Given the description of an element on the screen output the (x, y) to click on. 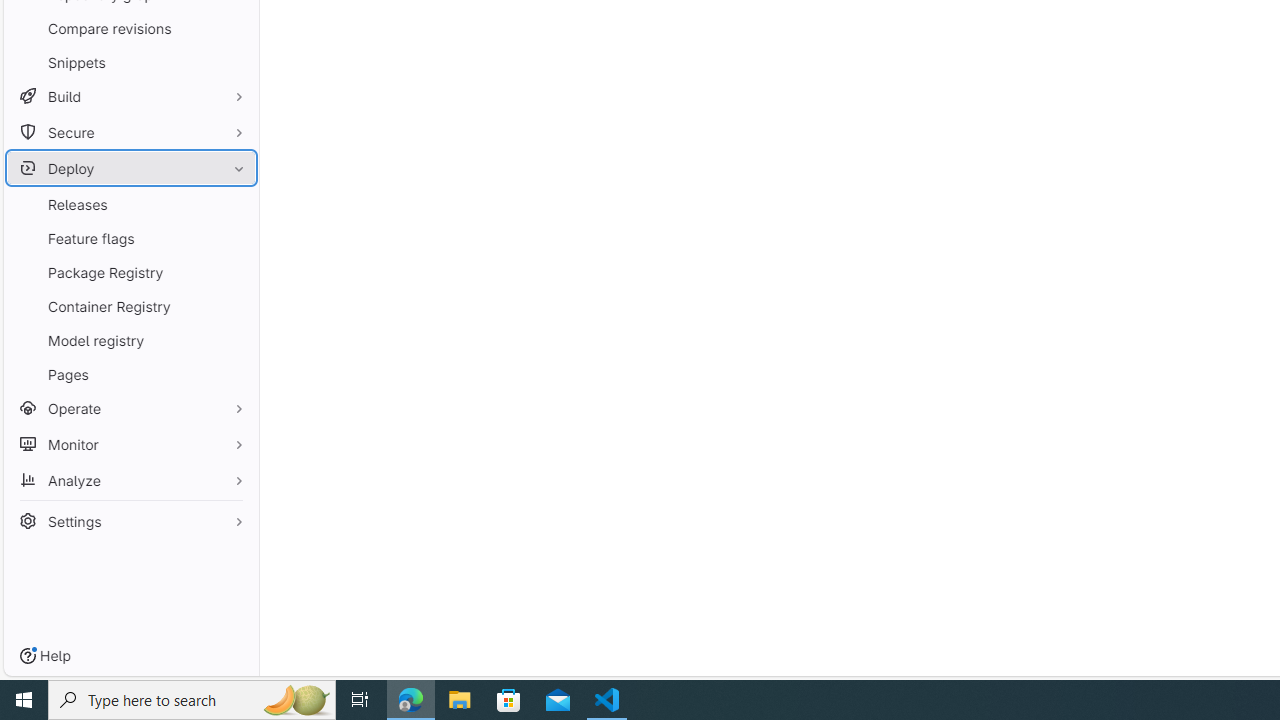
Pages (130, 373)
Pin Releases (234, 204)
Analyze (130, 479)
Container Registry (130, 306)
Secure (130, 132)
Secure (130, 132)
Pin Pages (234, 374)
Package Registry (130, 272)
Operate (130, 407)
Snippets (130, 62)
Pin Compare revisions (234, 28)
Pin Package Registry (234, 272)
Pin Feature flags (234, 238)
Container Registry (130, 306)
